Given the description of an element on the screen output the (x, y) to click on. 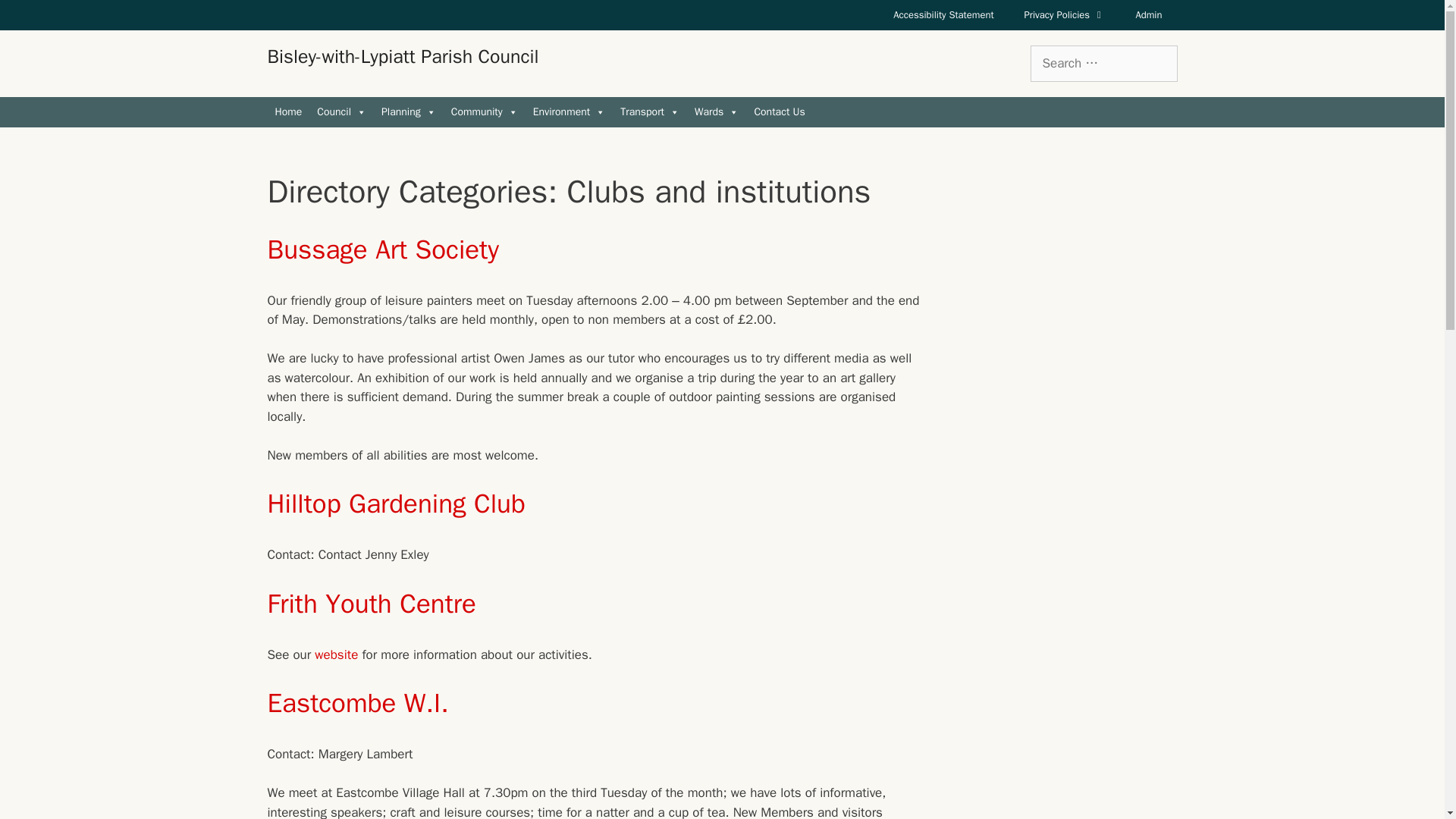
Community (484, 112)
Environment (568, 112)
Privacy Policies (1065, 15)
Accessibility Statement (943, 15)
Search (35, 18)
Planning (409, 112)
Council (341, 112)
Home (287, 112)
Search for: (1102, 63)
Bisley-with-Lypiatt Parish Council (402, 56)
Admin (1147, 15)
